Given the description of an element on the screen output the (x, y) to click on. 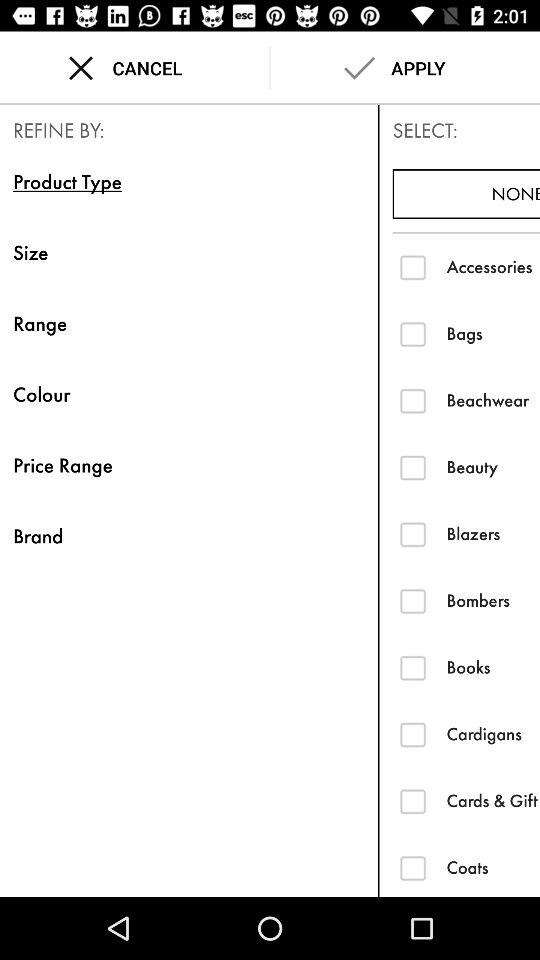
make filter selection (412, 600)
